Given the description of an element on the screen output the (x, y) to click on. 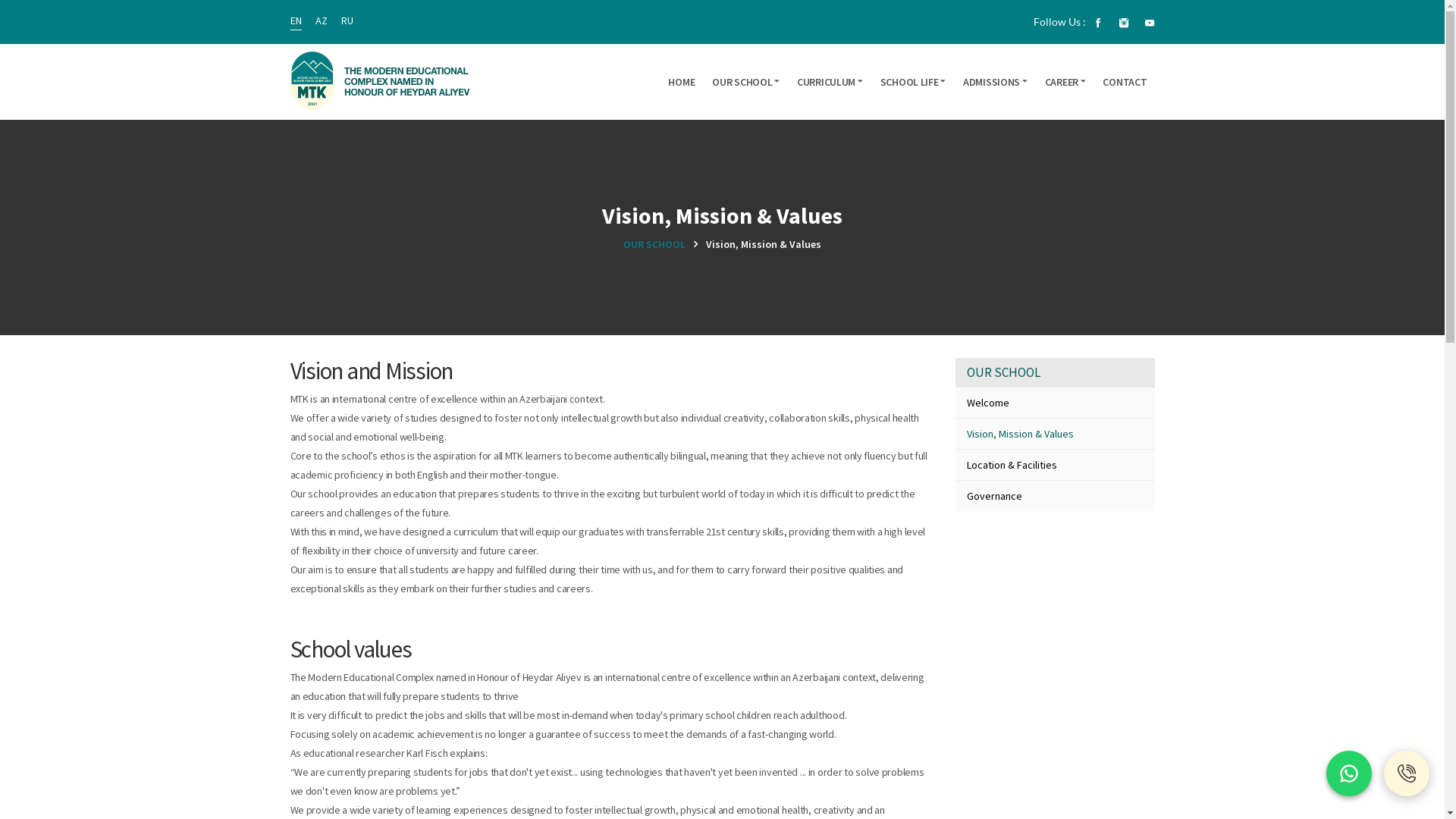
SCHOOL LIFE Element type: text (912, 81)
CURRICULUM Element type: text (829, 81)
Welcome Element type: text (1054, 402)
OUR SCHOOL Element type: text (745, 81)
ADMISSIONS Element type: text (995, 81)
HOME Element type: text (681, 81)
EN Element type: text (295, 20)
AZ Element type: text (321, 20)
OUR SCHOOL Element type: text (663, 244)
Location & Facilities Element type: text (1054, 464)
CONTACT Element type: text (1124, 81)
CAREER Element type: text (1065, 81)
Vision, Mission & Values Element type: text (1054, 433)
RU Element type: text (347, 20)
Governance Element type: text (1054, 495)
